Given the description of an element on the screen output the (x, y) to click on. 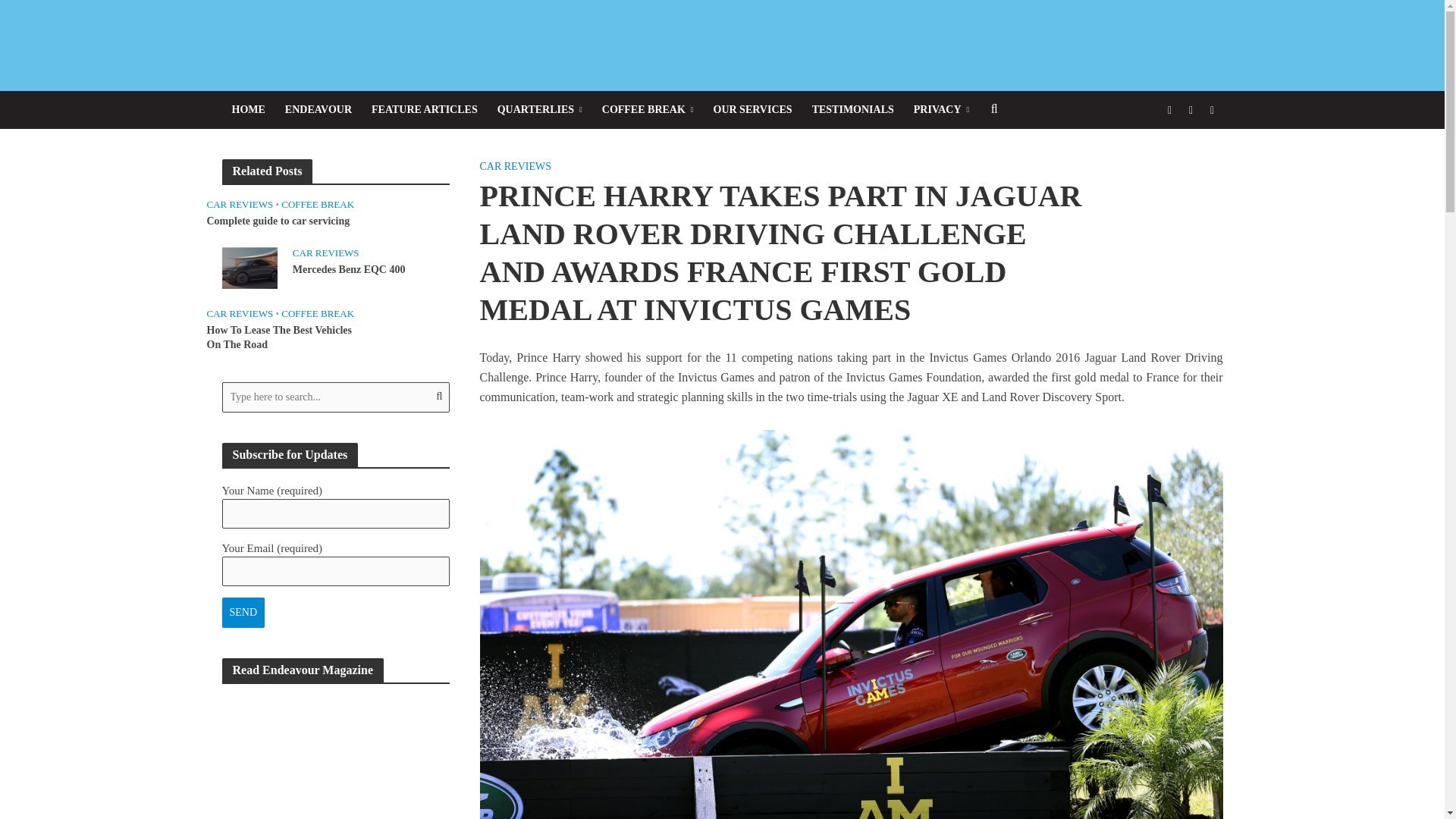
FEATURE ARTICLES (424, 109)
PRIVACY (941, 109)
QUARTERLIES (539, 109)
ENDEAVOUR (318, 109)
Mercedes Benz EQC 400 (248, 266)
Send (242, 612)
COFFEE BREAK (647, 109)
OUR SERVICES (752, 109)
TESTIMONIALS (853, 109)
HOME (248, 109)
